Given the description of an element on the screen output the (x, y) to click on. 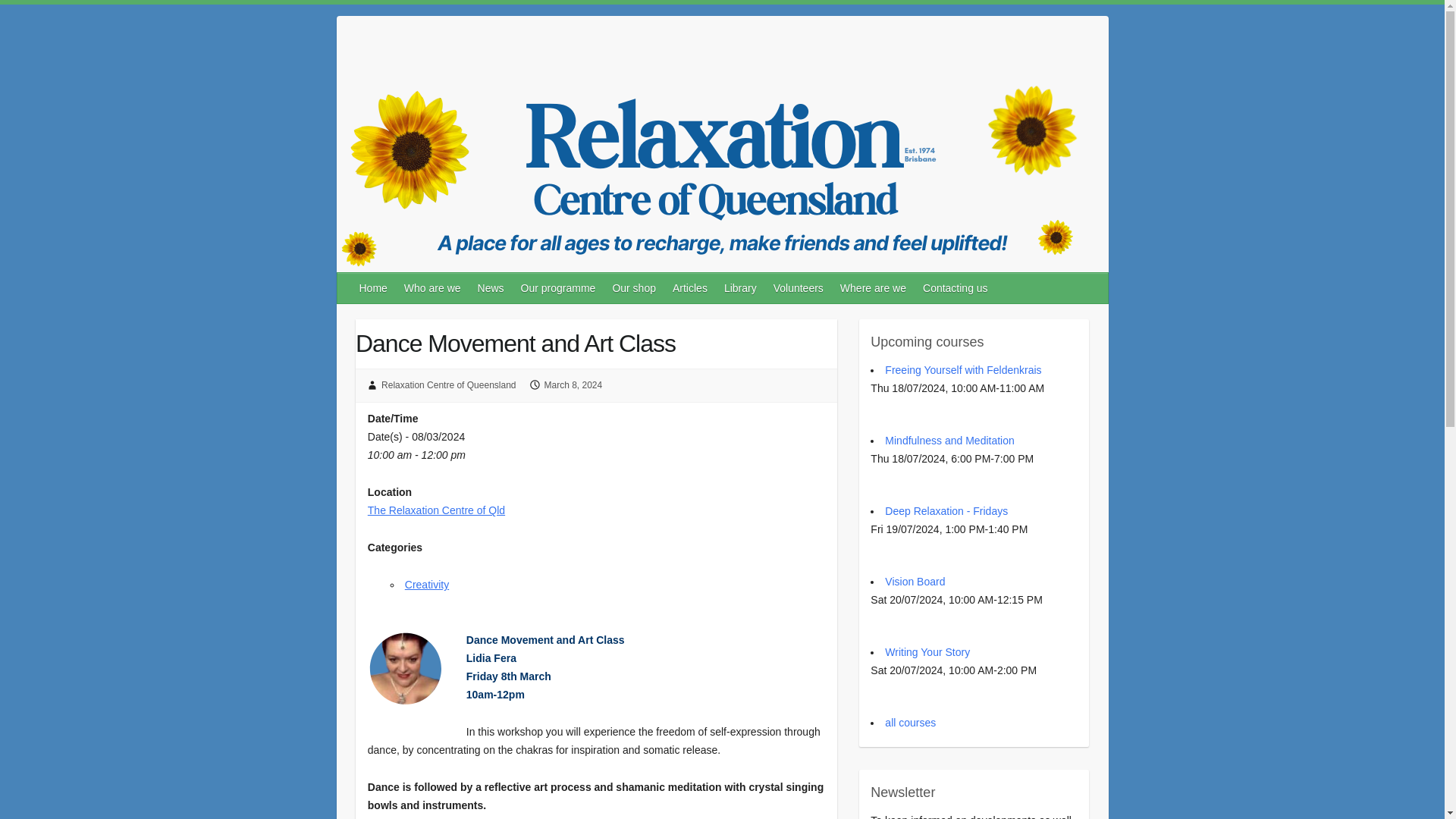
Home (374, 287)
Where are we (873, 287)
Articles (690, 287)
Volunteers (798, 287)
Creativity (426, 584)
Our programme (559, 287)
Relaxation Centre of Queensland (448, 385)
News (491, 287)
all courses (910, 722)
Contacting us (956, 287)
Library (740, 287)
Freeing Yourself with Feldenkrais (963, 369)
The Relaxation Centre of Qld (436, 510)
Who are we (433, 287)
Our shop (634, 287)
